Given the description of an element on the screen output the (x, y) to click on. 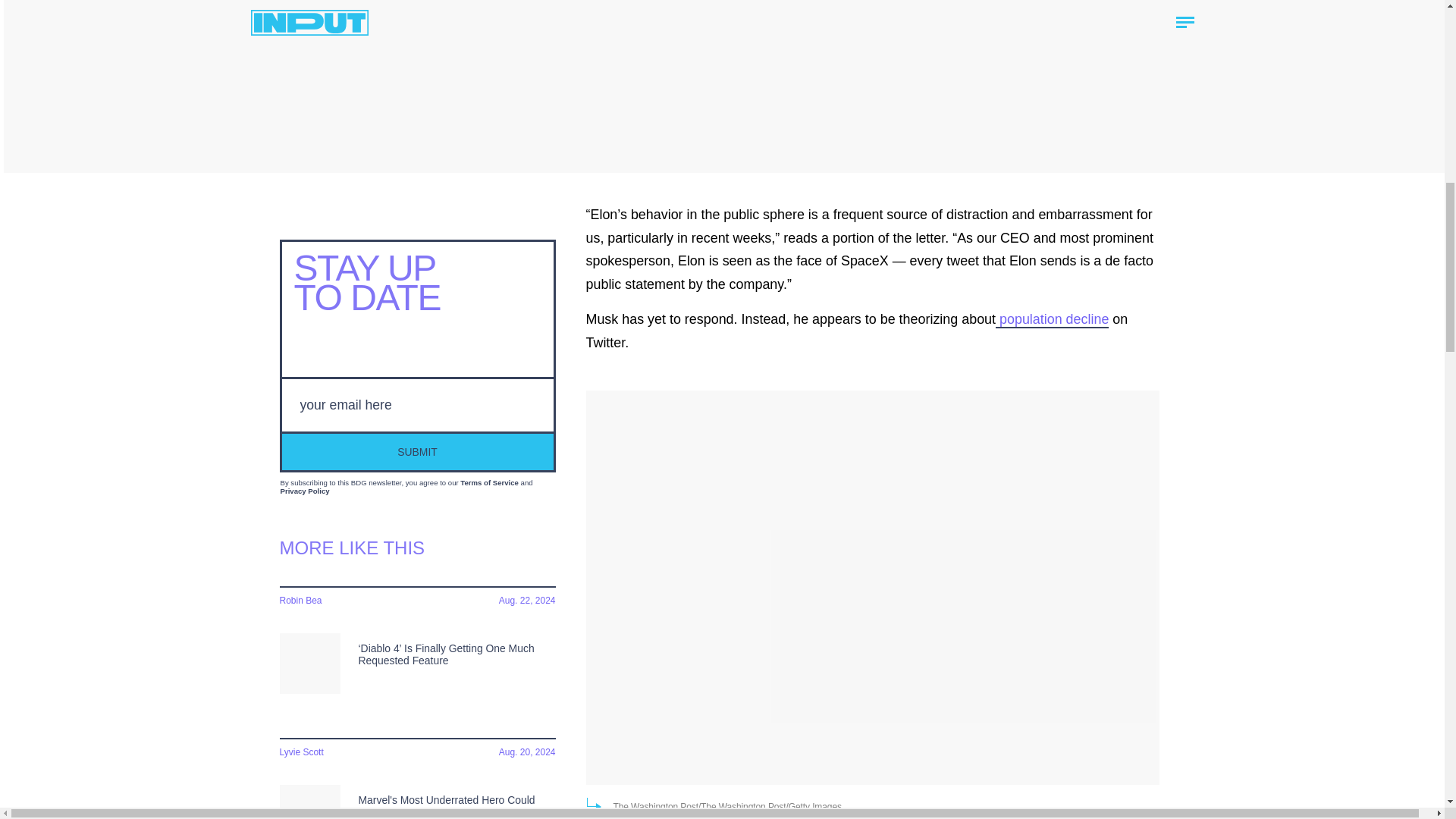
Privacy Policy (305, 490)
SUBMIT (417, 450)
population decline (1051, 320)
Terms of Service (489, 482)
